Given the description of an element on the screen output the (x, y) to click on. 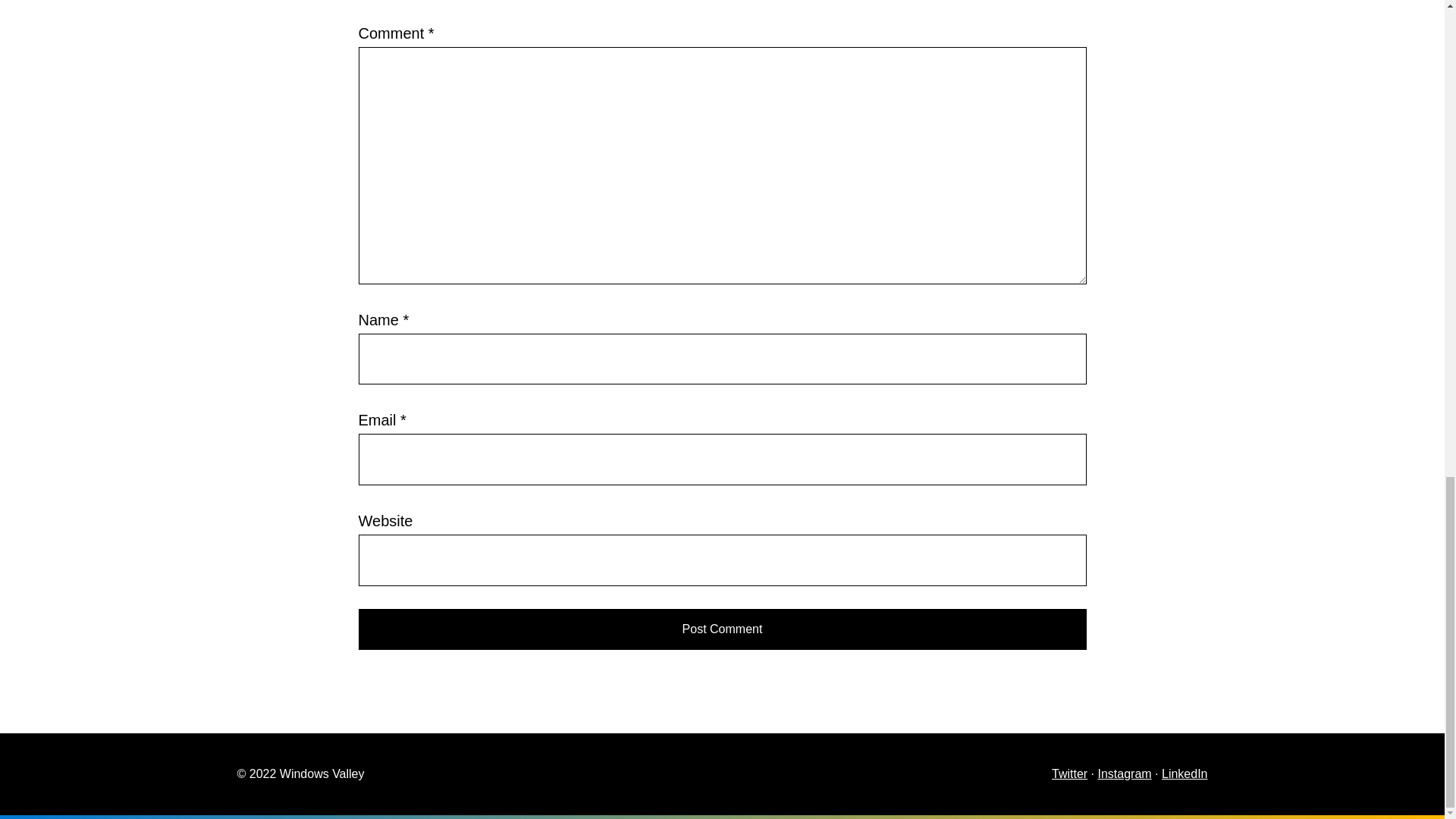
Instagram (1124, 773)
Post Comment (722, 629)
Post Comment (722, 629)
Twitter (1069, 773)
LinkedIn (1184, 773)
